Given the description of an element on the screen output the (x, y) to click on. 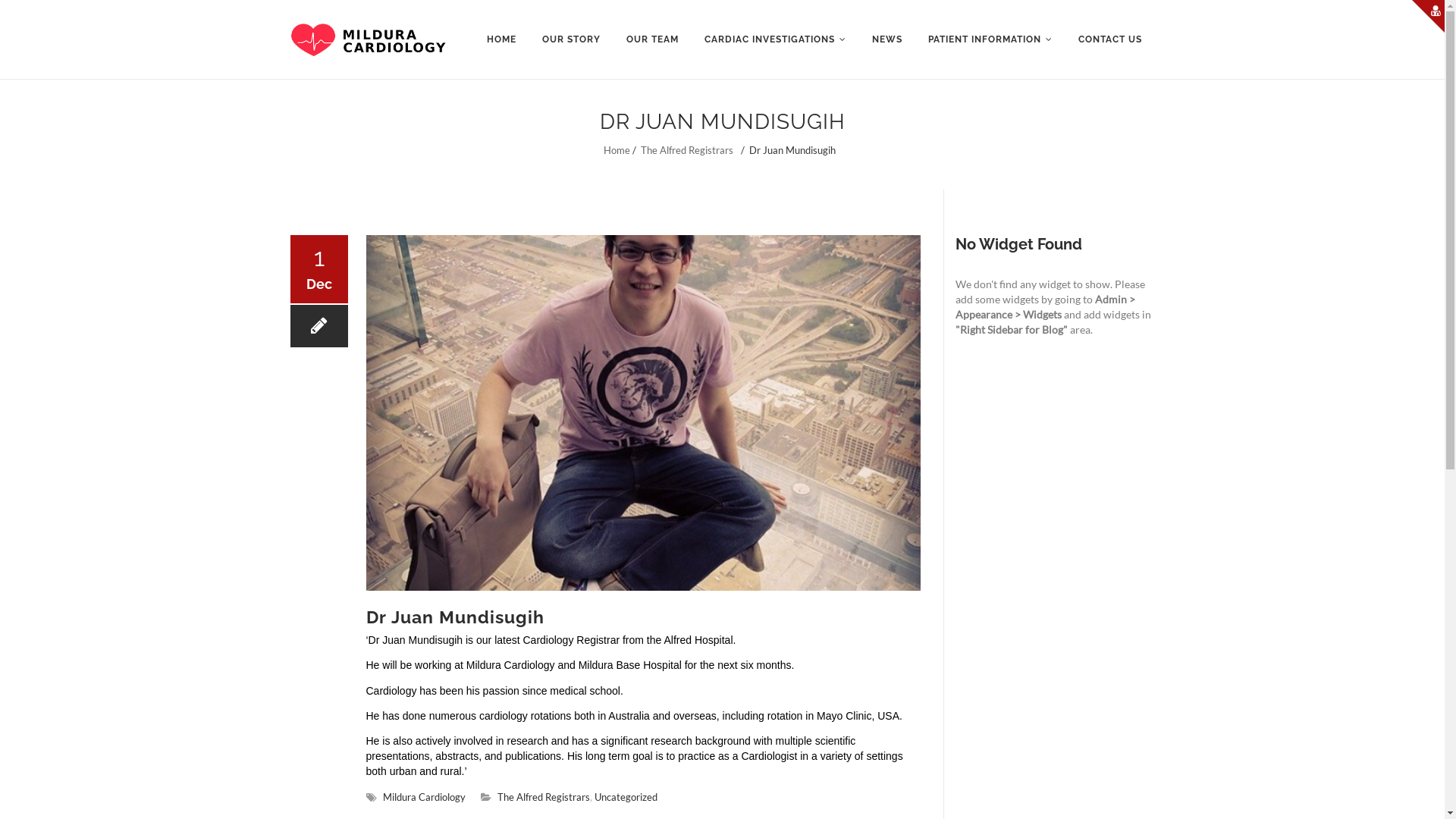
Mildura Cardiology Element type: text (423, 796)
The Alfred Registrars Element type: text (686, 150)
PATIENT INFORMATION Element type: text (989, 39)
CONTACT US Element type: text (1109, 39)
NEWS Element type: text (886, 39)
CARDIAC INVESTIGATIONS Element type: text (775, 39)
OUR STORY Element type: text (571, 39)
OUR TEAM Element type: text (651, 39)
HOME Element type: text (500, 39)
Mildura Cardio Element type: hover (367, 39)
The Alfred Registrars Element type: text (543, 796)
Home Element type: text (616, 150)
Uncategorized Element type: text (625, 796)
